Given the description of an element on the screen output the (x, y) to click on. 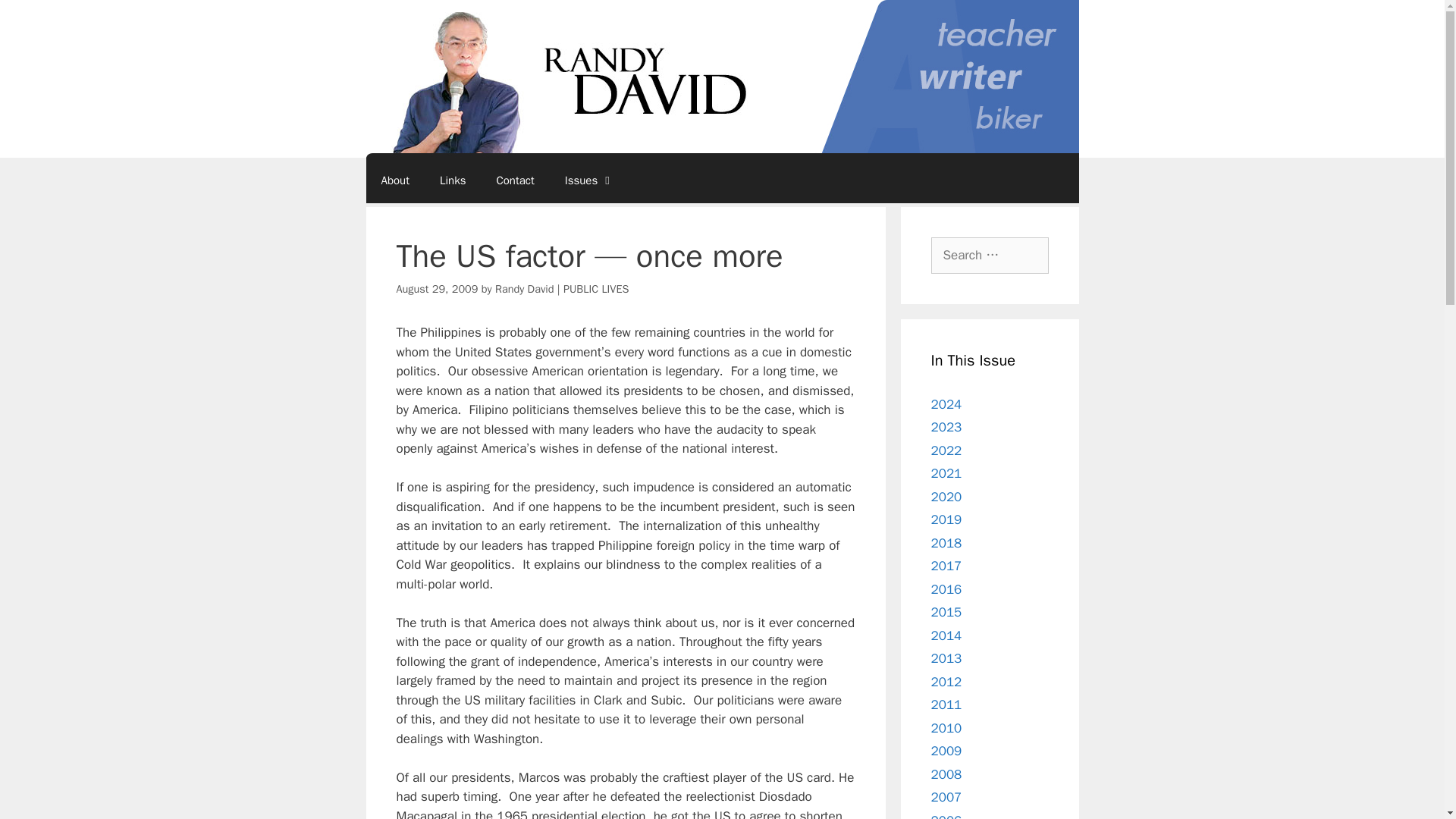
Contact (514, 180)
Links (452, 180)
Issues (589, 180)
About (394, 180)
Search for: (989, 255)
